Given the description of an element on the screen output the (x, y) to click on. 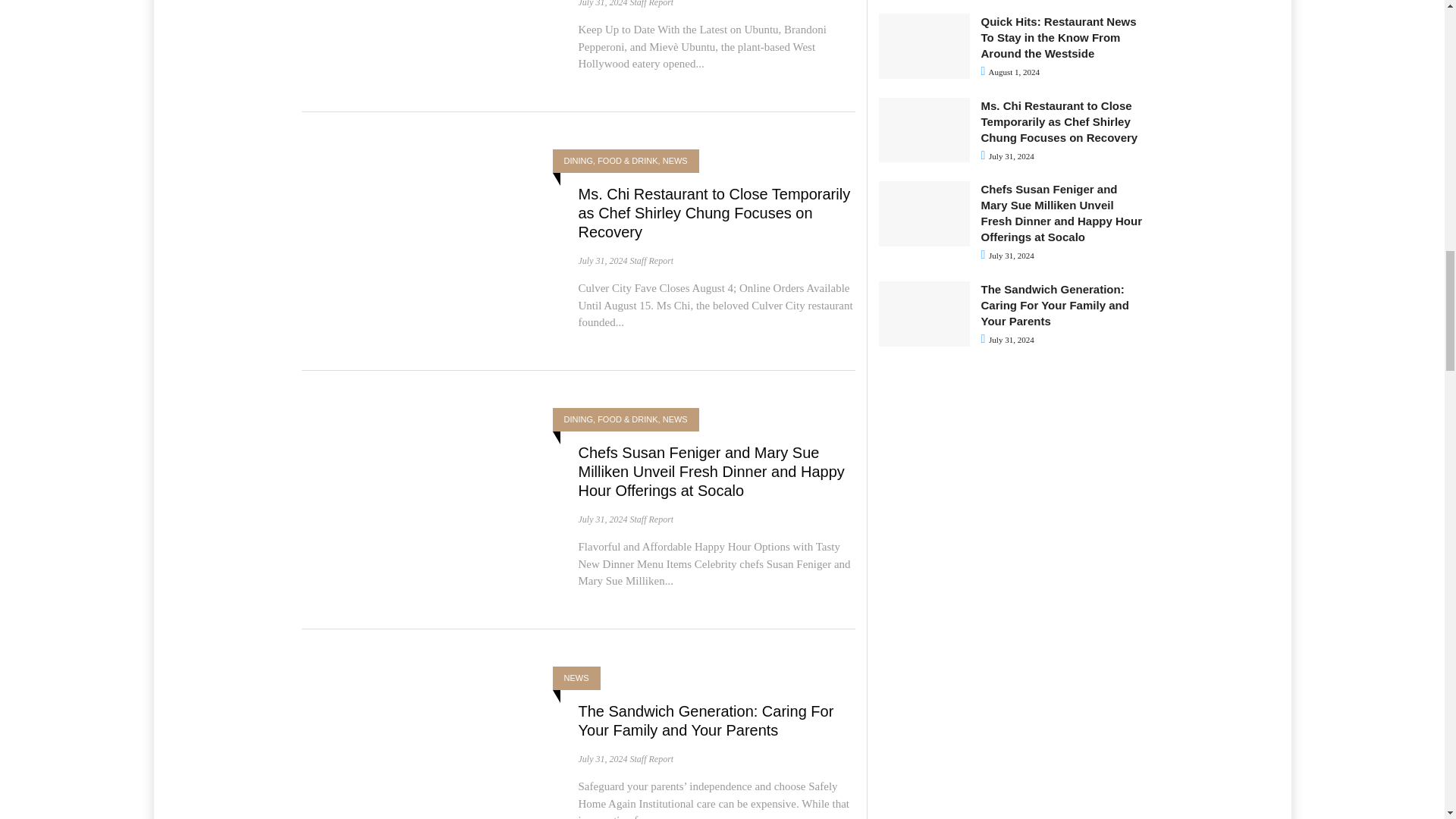
Posts by Staff Report (650, 519)
Posts by Staff Report (650, 3)
Posts by Staff Report (650, 260)
